Given the description of an element on the screen output the (x, y) to click on. 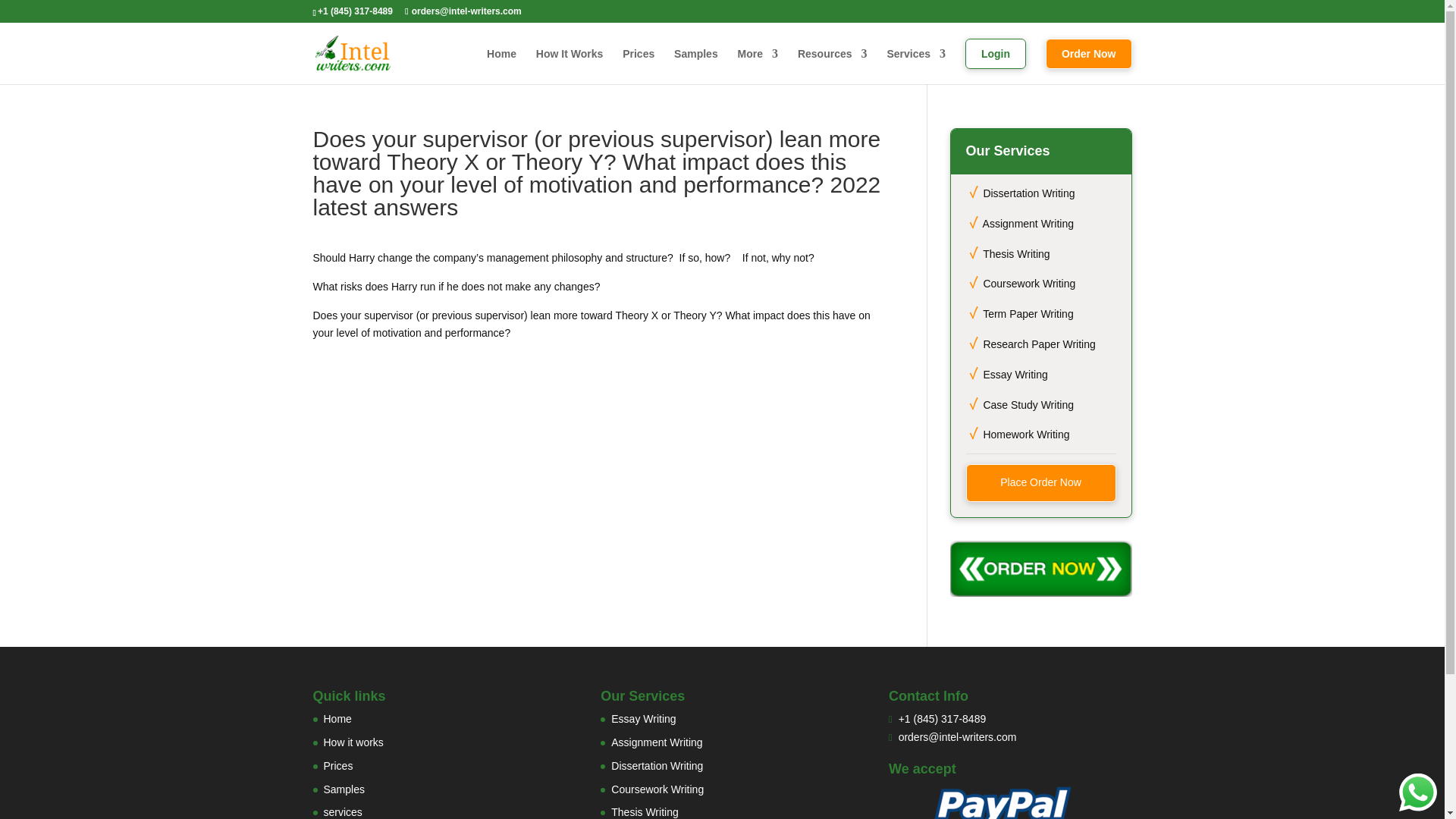
Resources (832, 61)
Order Now (1088, 61)
How It Works (568, 61)
Samples (695, 61)
Prices (638, 61)
Login (995, 61)
Home (501, 61)
Services (915, 61)
More (757, 61)
